Given the description of an element on the screen output the (x, y) to click on. 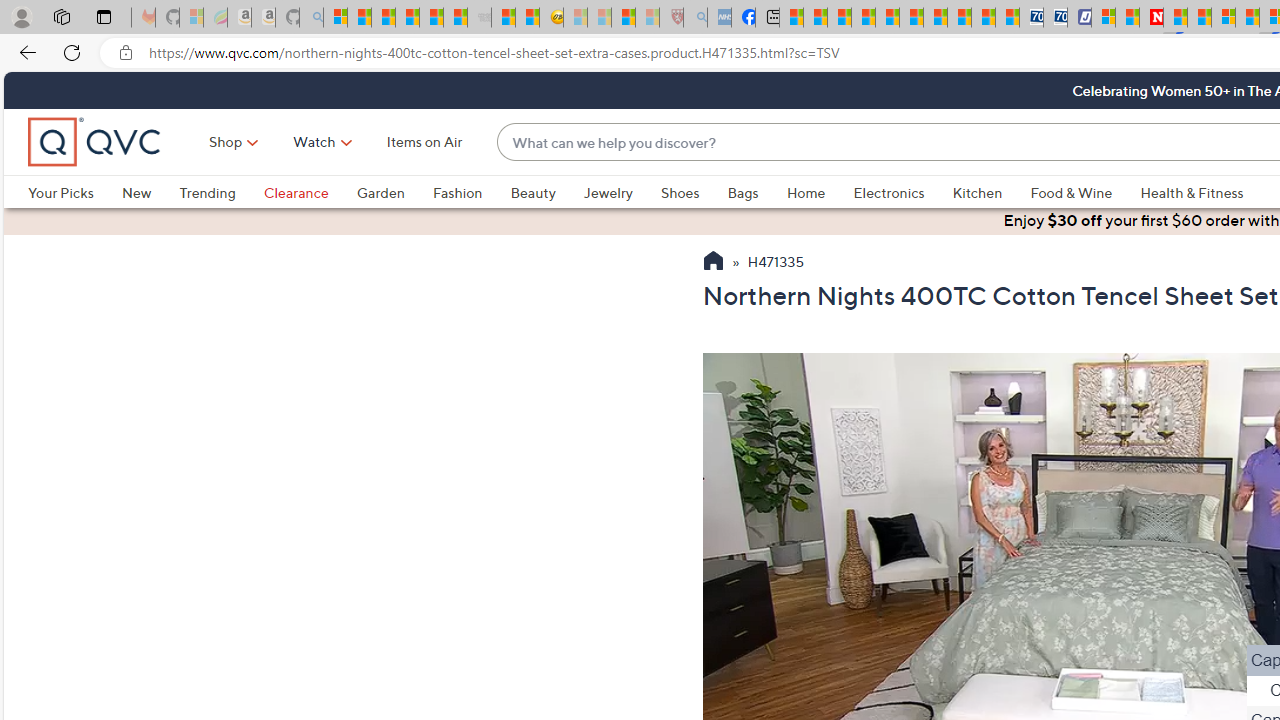
Kitchen (977, 192)
Clearance (295, 192)
Combat Siege - Sleeping (479, 17)
QVC home (95, 141)
Health & Fitness (1197, 192)
Return to QVC Homepage (712, 263)
Fashion (471, 192)
